Given the description of an element on the screen output the (x, y) to click on. 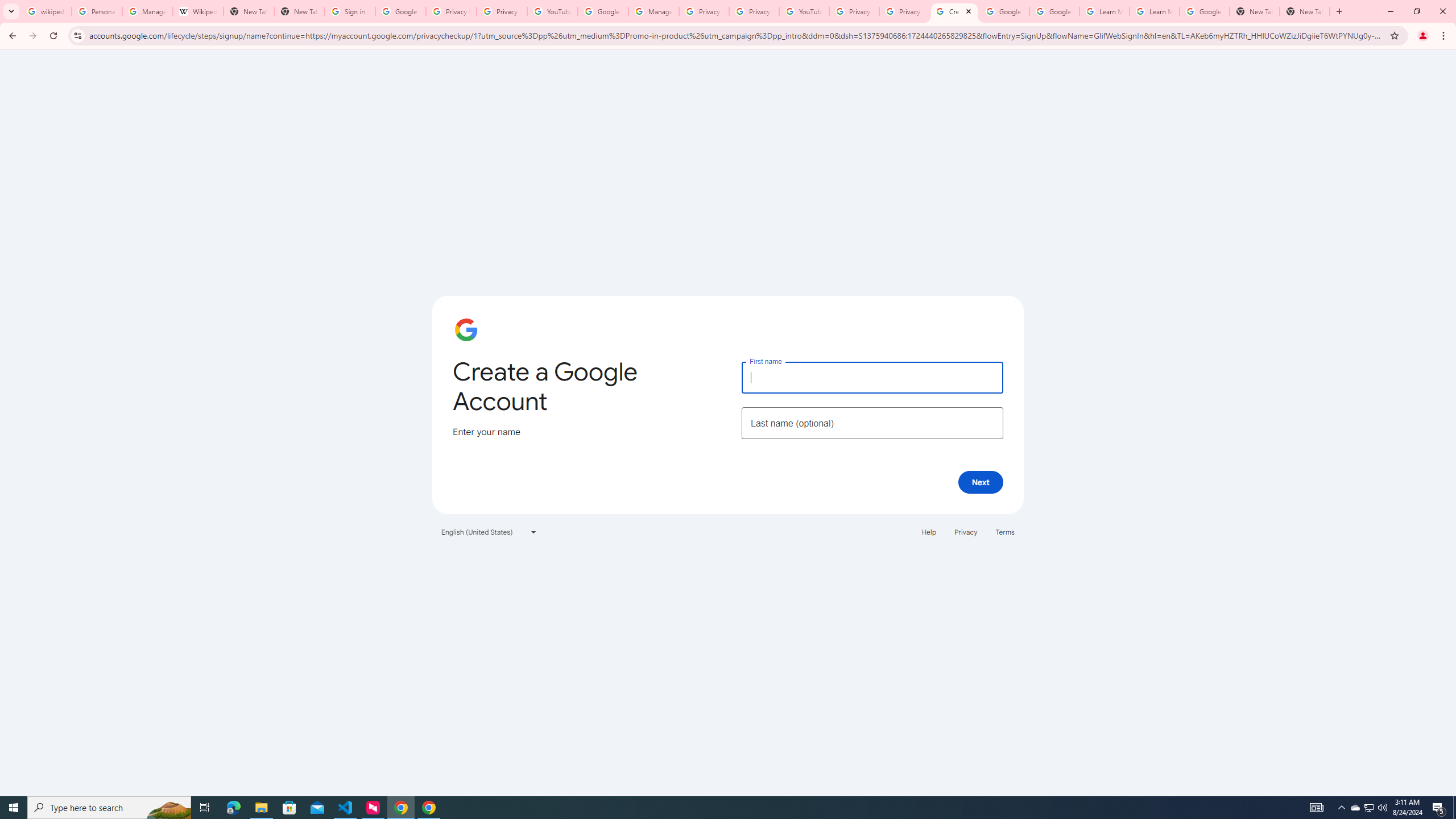
Create your Google Account (954, 11)
Google Account (1204, 11)
Next (980, 481)
Help (928, 531)
Google Account Help (602, 11)
Sign in - Google Accounts (350, 11)
